Given the description of an element on the screen output the (x, y) to click on. 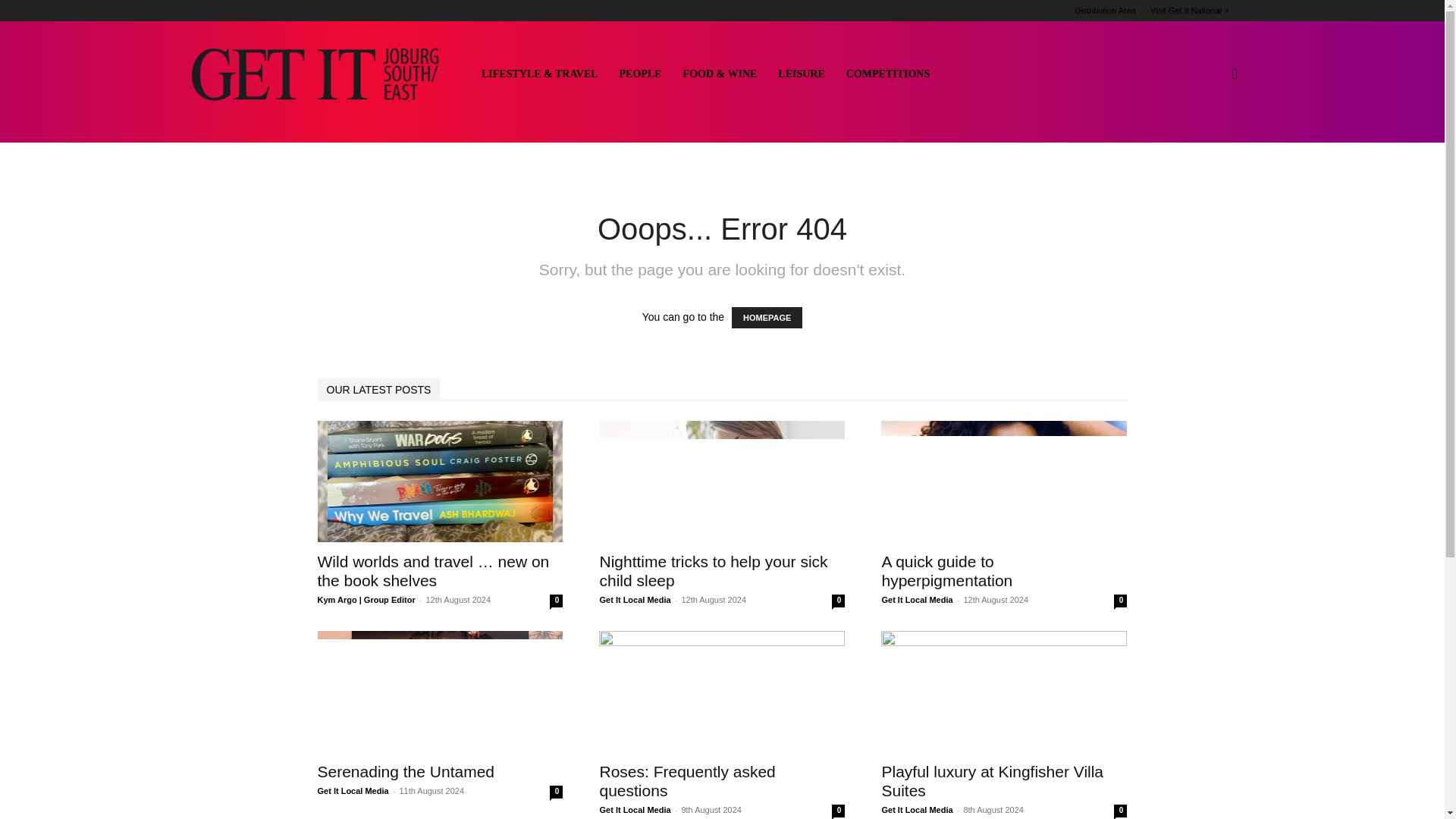
Distribution Area (1104, 10)
A quick guide to hyperpigmentation (1003, 481)
Search (1210, 146)
Serenading the Untamed (439, 691)
A quick guide to hyperpigmentation (945, 570)
Roses: Frequently asked questions (721, 691)
Serenading the Untamed (406, 771)
